Given the description of an element on the screen output the (x, y) to click on. 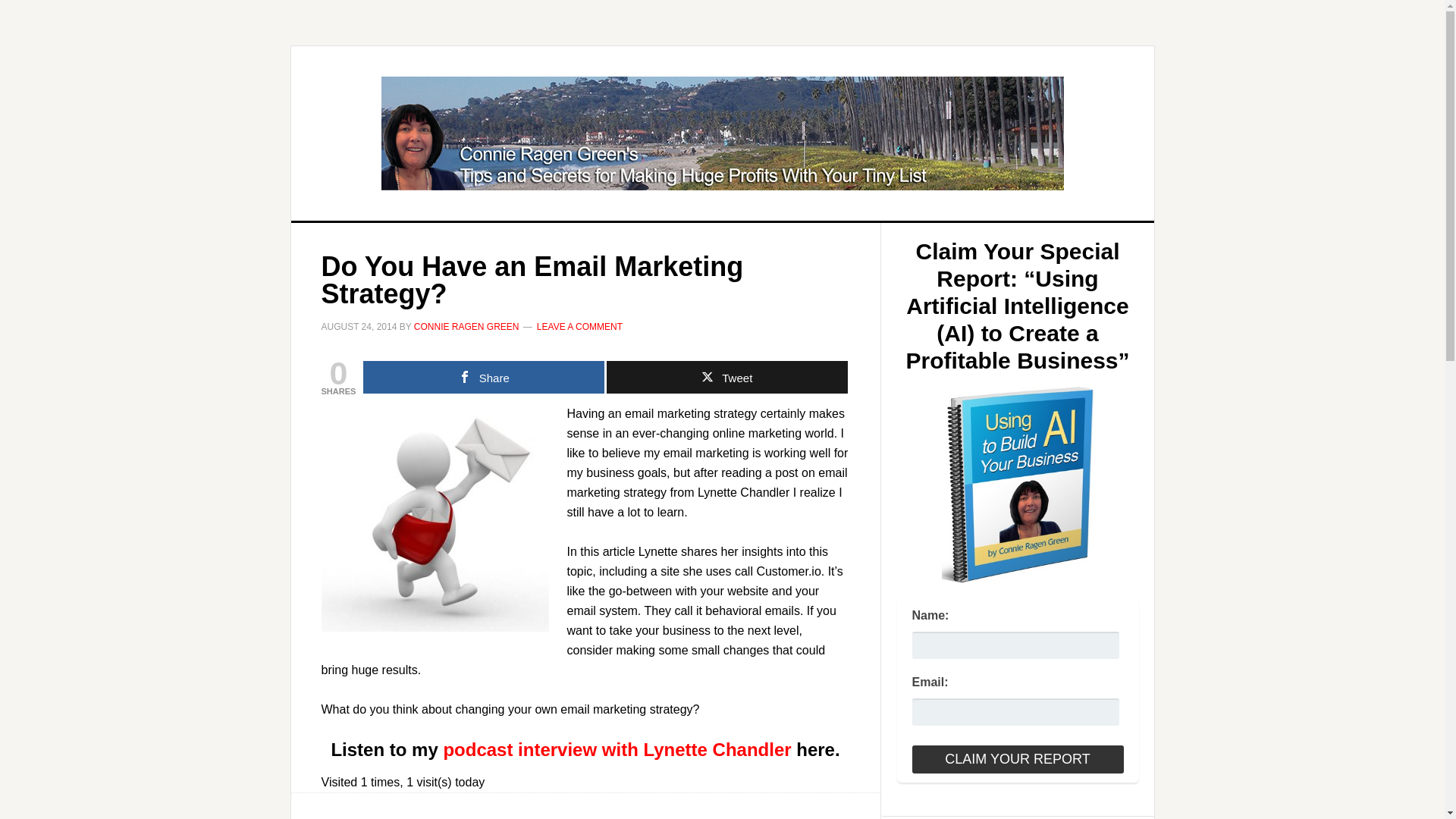
podcast interview with Lynette Chandler (616, 748)
Claim Your Report (1016, 759)
CONNIE RAGEN GREEN (466, 326)
Lynette Chandler Podcast Interview (616, 748)
Claim Your Report (1016, 759)
Share (483, 377)
HUGE PROFITS TINY LIST WITH CONNIE RAGEN GREEN (722, 133)
LEAVE A COMMENT (580, 326)
Tweet (727, 377)
